Given the description of an element on the screen output the (x, y) to click on. 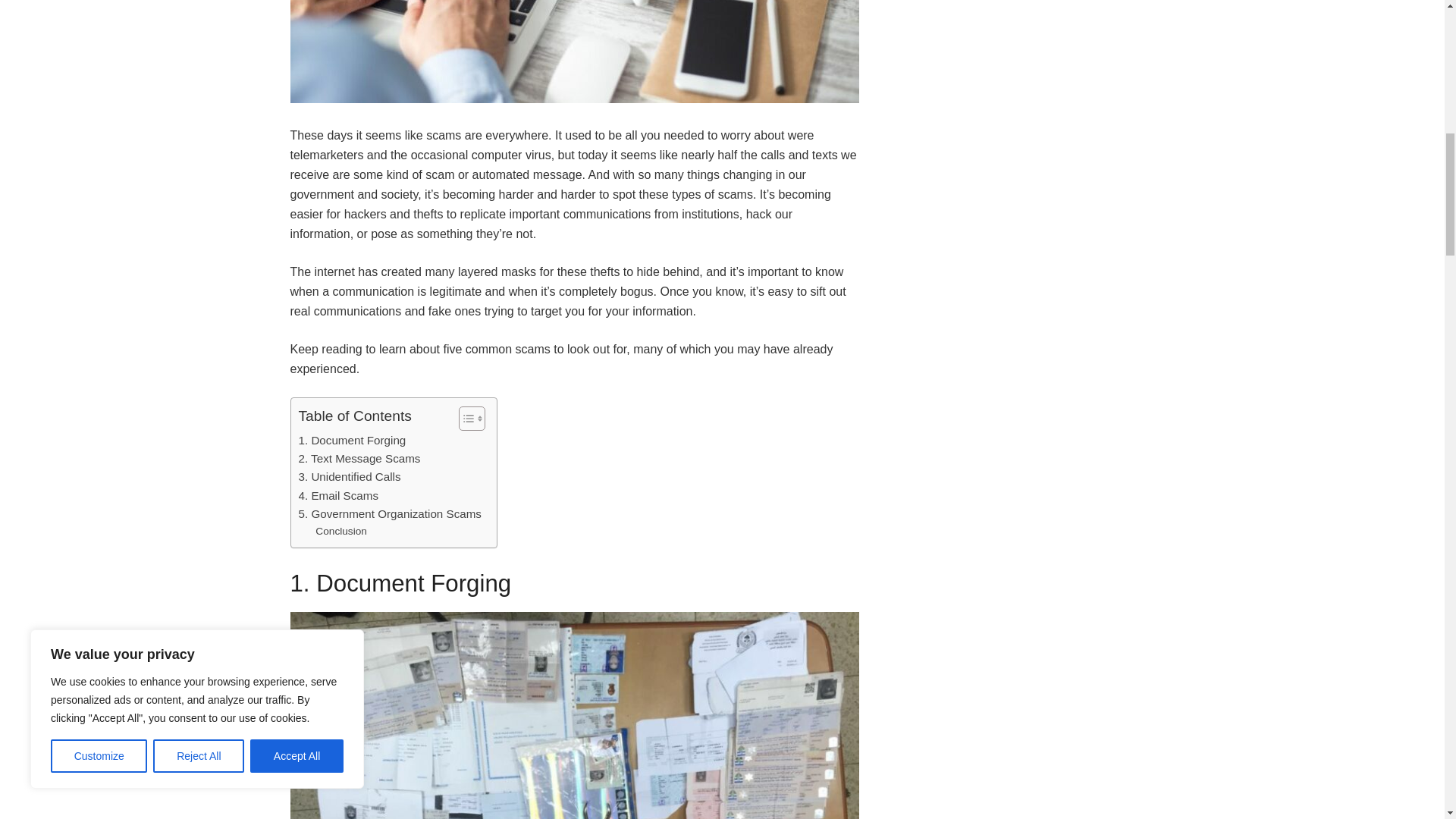
3. Unidentified Calls (349, 476)
4. Email Scams (338, 495)
1. Document Forging (352, 440)
5. Government Organization Scams (389, 514)
Advertisement (1023, 18)
2. Text Message Scams (359, 458)
